Given the description of an element on the screen output the (x, y) to click on. 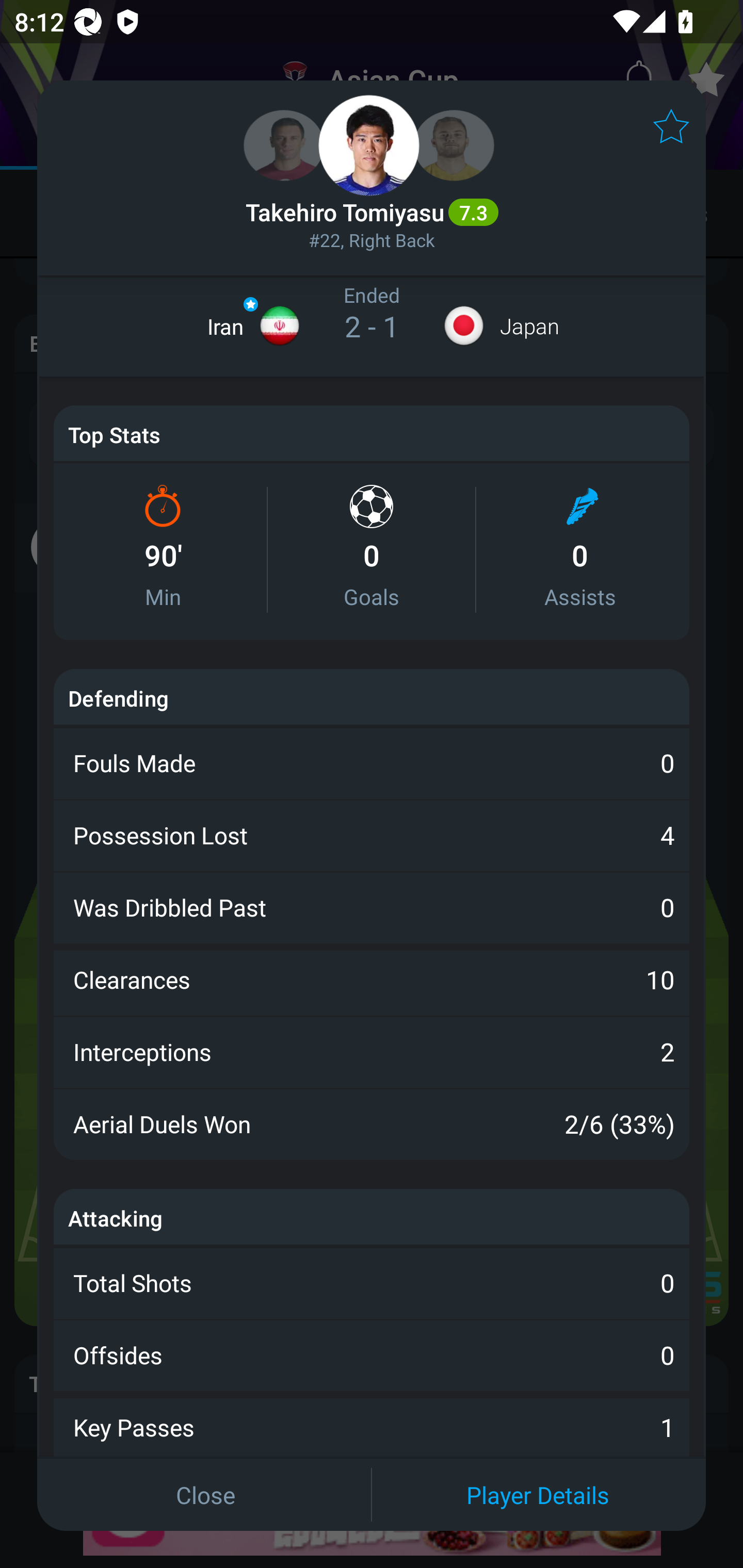
Iran Ended 2 - 1 Japan (371, 325)
Defending (118, 697)
Attacking (115, 1218)
Close (205, 1494)
Player Details (537, 1494)
